Given the description of an element on the screen output the (x, y) to click on. 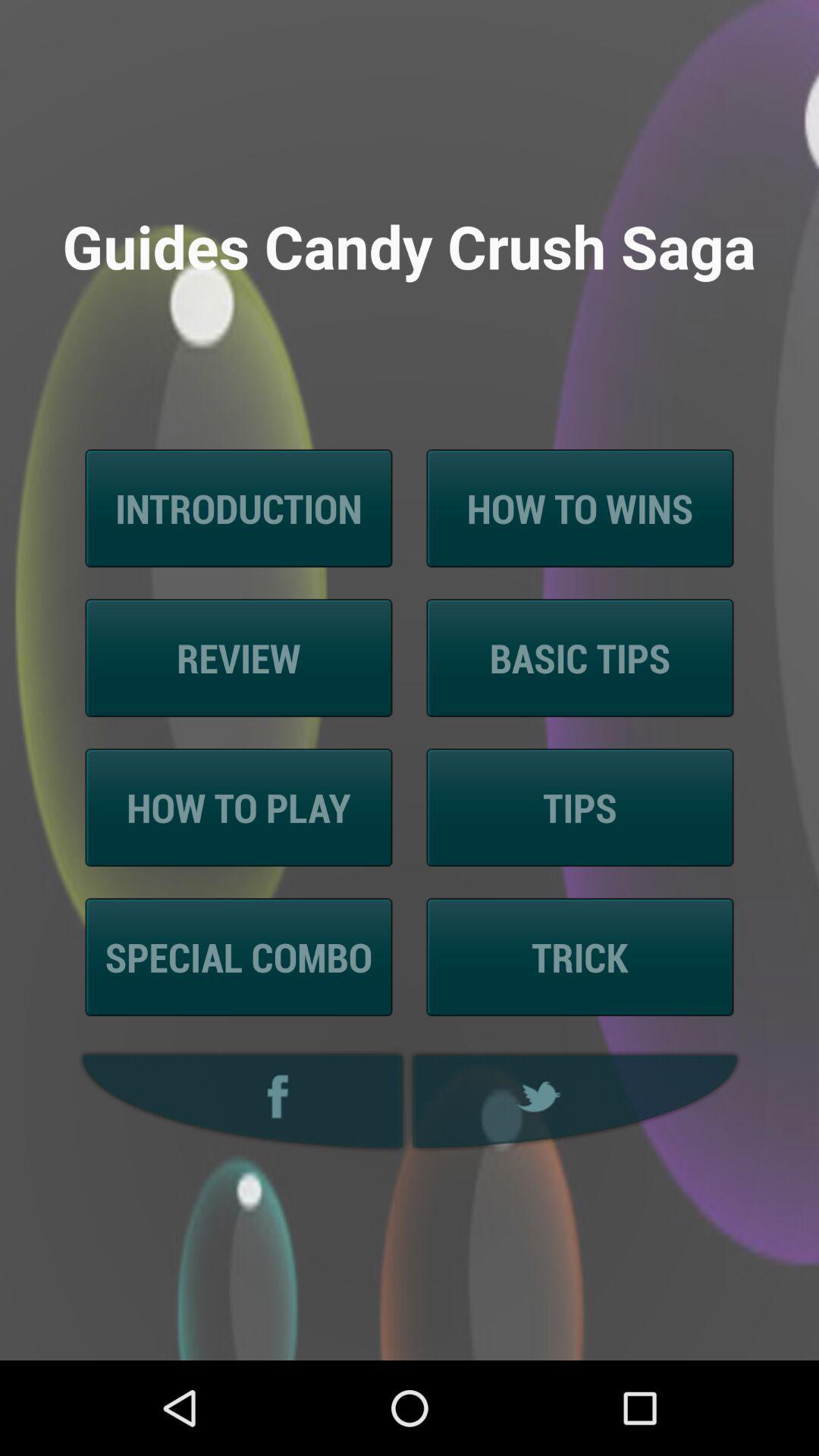
swipe until the special combo (238, 957)
